Given the description of an element on the screen output the (x, y) to click on. 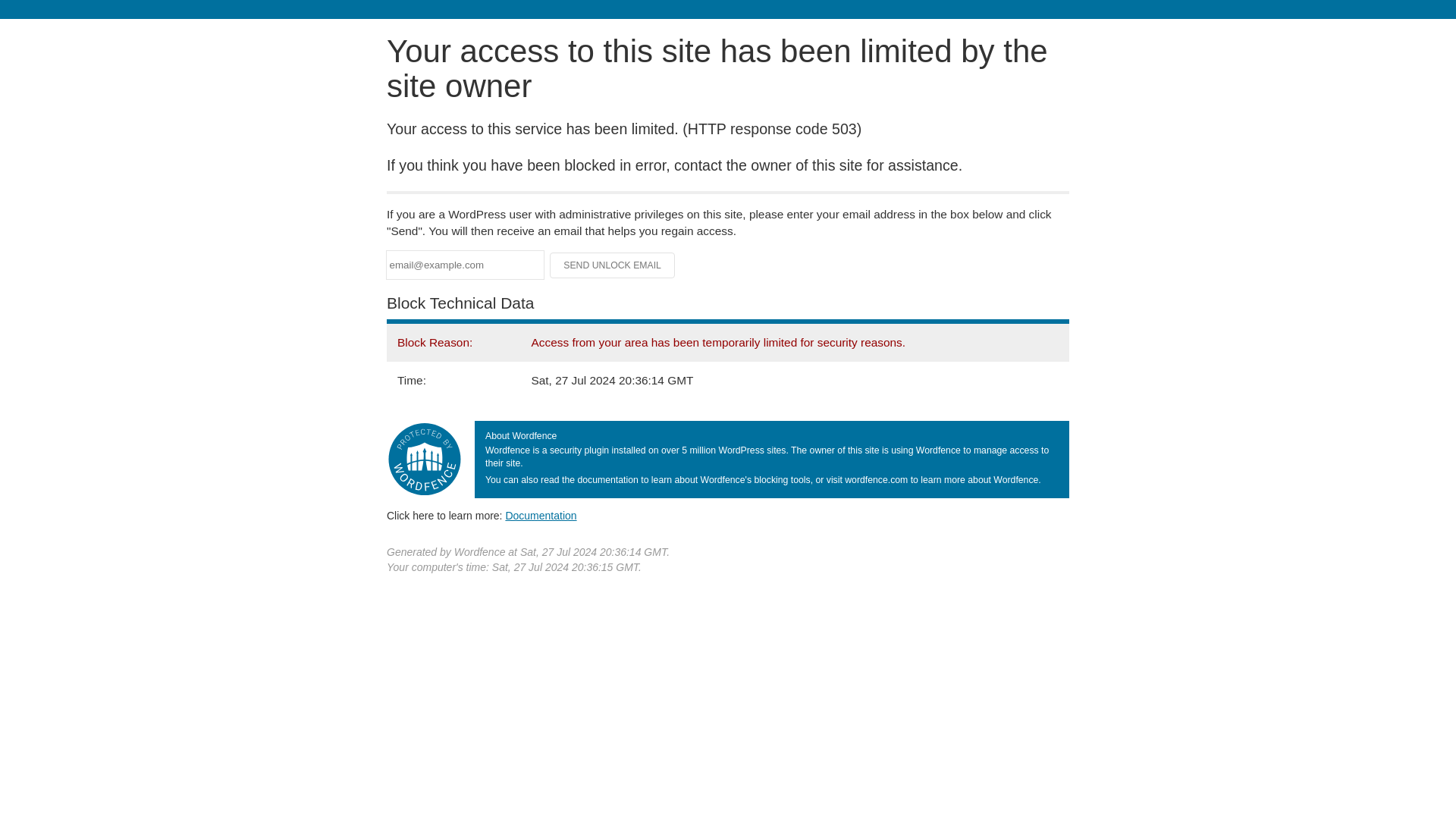
Send Unlock Email (612, 265)
Send Unlock Email (612, 265)
Documentation (540, 515)
